Given the description of an element on the screen output the (x, y) to click on. 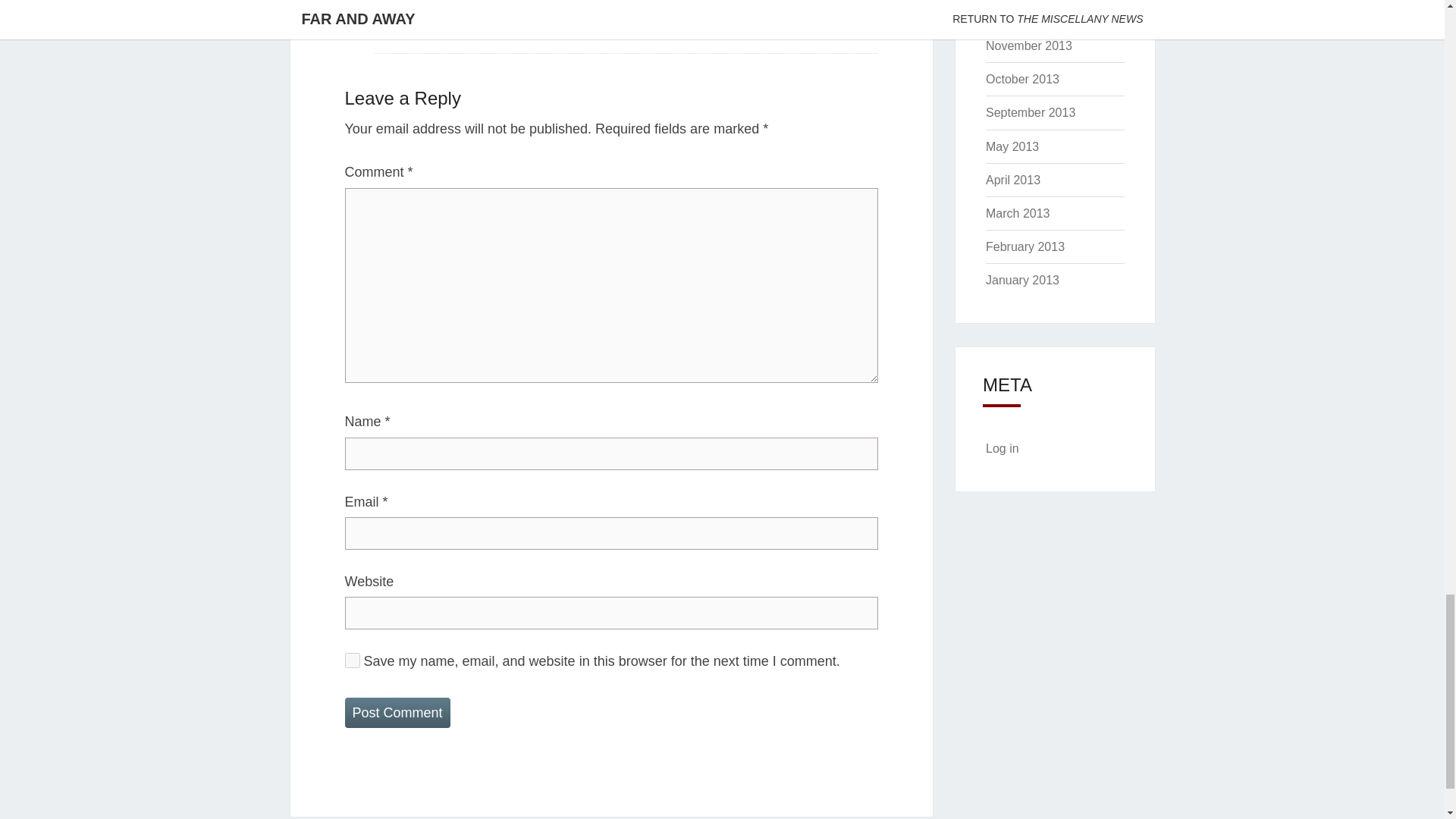
Post Comment (396, 712)
yes (351, 660)
Post Comment (396, 712)
Reply (391, 27)
